Given the description of an element on the screen output the (x, y) to click on. 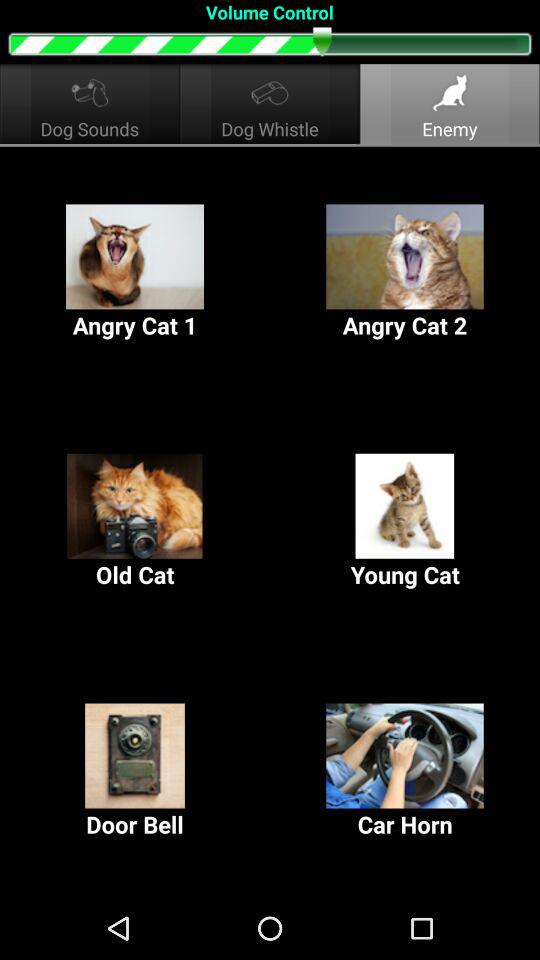
turn off button on the right (405, 521)
